Given the description of an element on the screen output the (x, y) to click on. 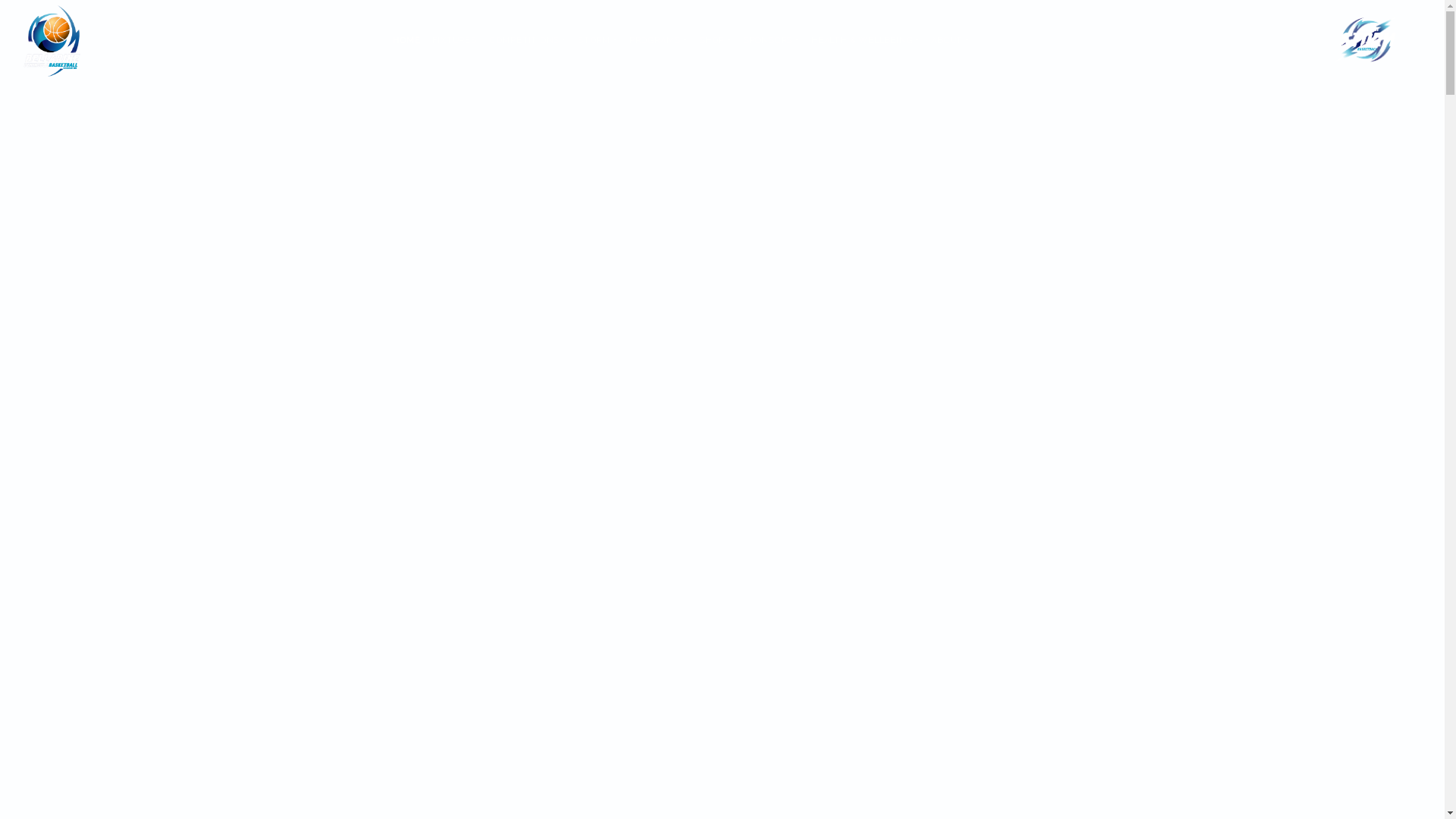
FIXTURES Element type: text (454, 40)
PROGRAMS Element type: text (658, 40)
STORM Element type: text (597, 40)
COMPETITIONS Element type: text (527, 40)
HOME Element type: text (406, 40)
SHOP Element type: text (715, 40)
SPONSORS Element type: text (771, 40)
ABOUT Element type: text (950, 40)
HEALTH & WELLBEING Element type: text (865, 40)
